Given the description of an element on the screen output the (x, y) to click on. 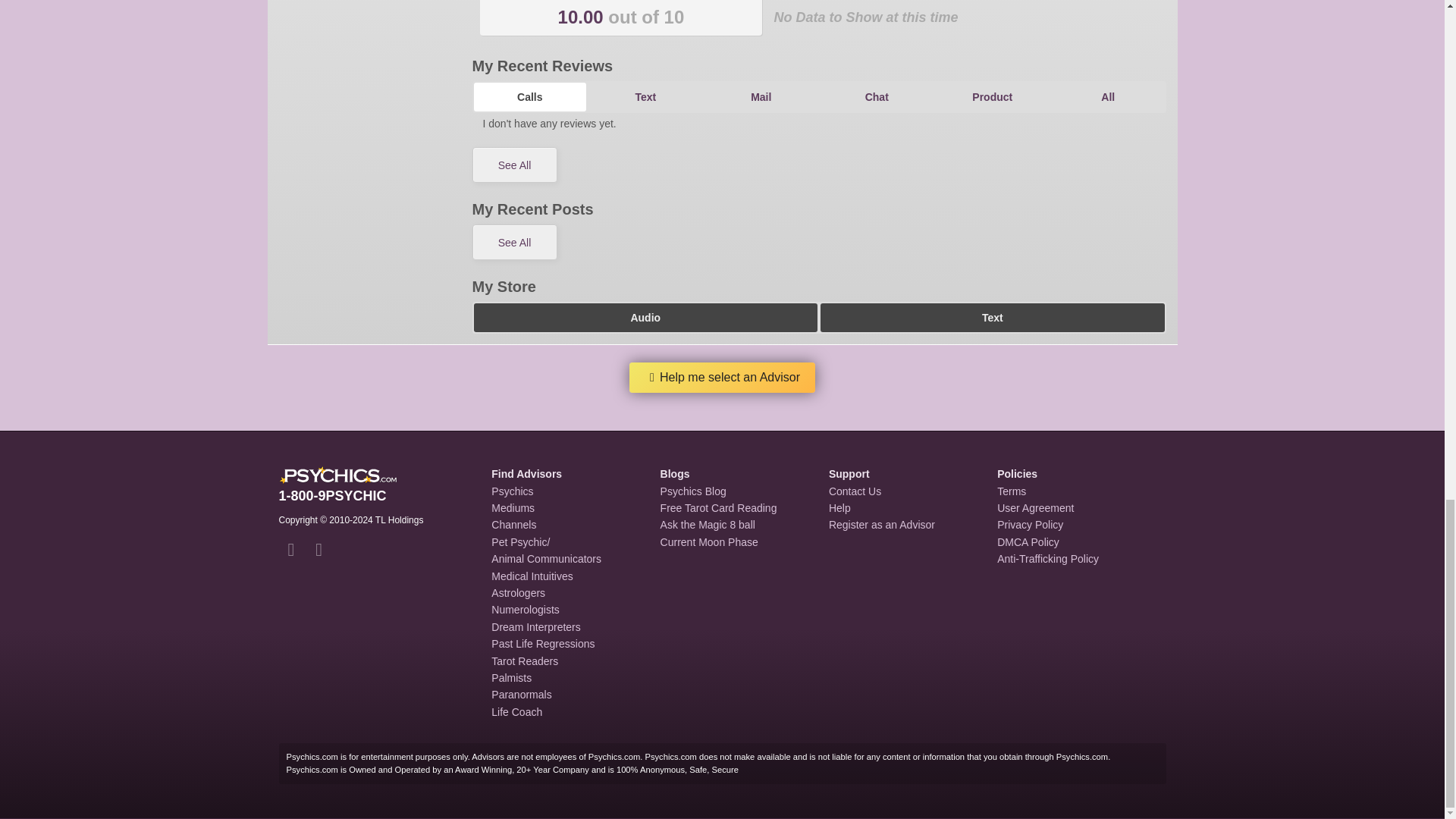
Calls (529, 96)
See All (513, 164)
Mail (761, 96)
All (1107, 96)
Product (992, 96)
Chat (877, 96)
Text (645, 96)
